Given the description of an element on the screen output the (x, y) to click on. 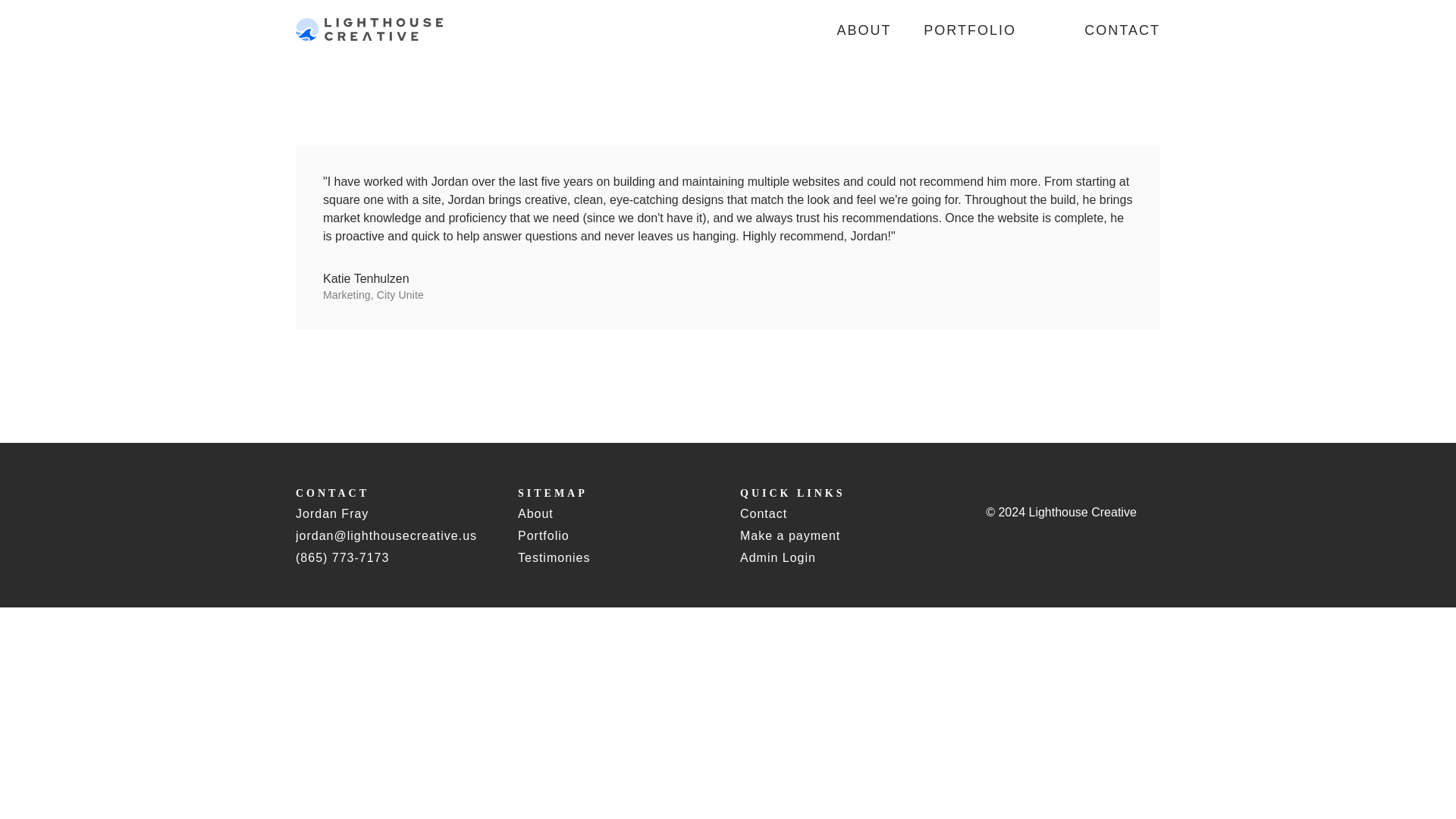
PORTFOLIO (969, 29)
Testimonies (553, 557)
ABOUT (864, 29)
About (535, 513)
Portfolio (543, 535)
Make a payment (789, 535)
CONTACT (1122, 29)
Contact (763, 513)
Admin Login (777, 557)
